Given the description of an element on the screen output the (x, y) to click on. 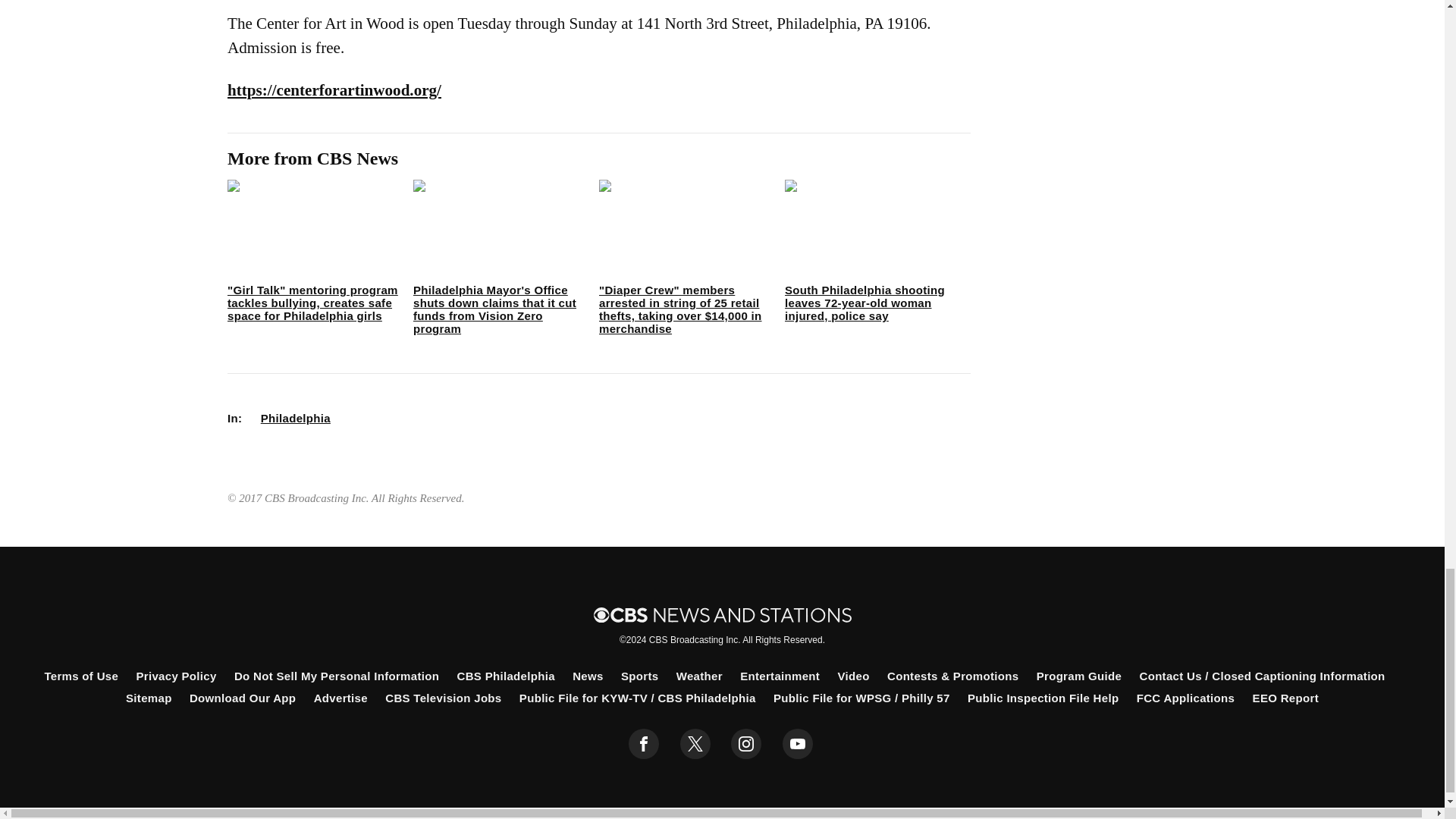
instagram (745, 743)
youtube (797, 743)
twitter (694, 743)
facebook (643, 743)
